Given the description of an element on the screen output the (x, y) to click on. 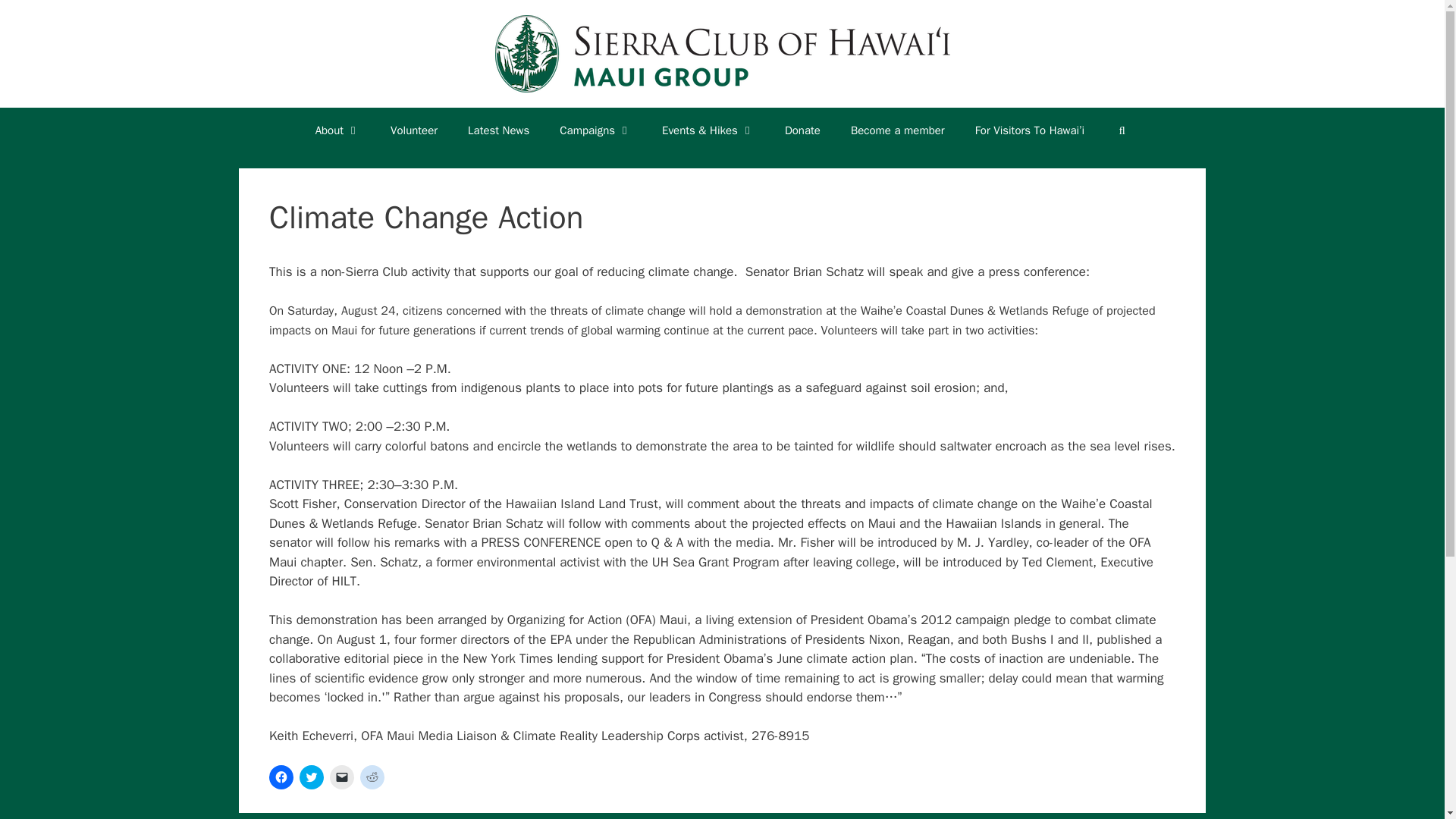
Volunteer (413, 130)
Donate (802, 130)
Campaigns (595, 130)
About (337, 130)
Click to share on Facebook (281, 776)
Sierra Club Maui Group (722, 53)
Click to share on Twitter (311, 776)
Latest News (498, 130)
Click to email a link to a friend (341, 776)
Click to share on Reddit (371, 776)
